Given the description of an element on the screen output the (x, y) to click on. 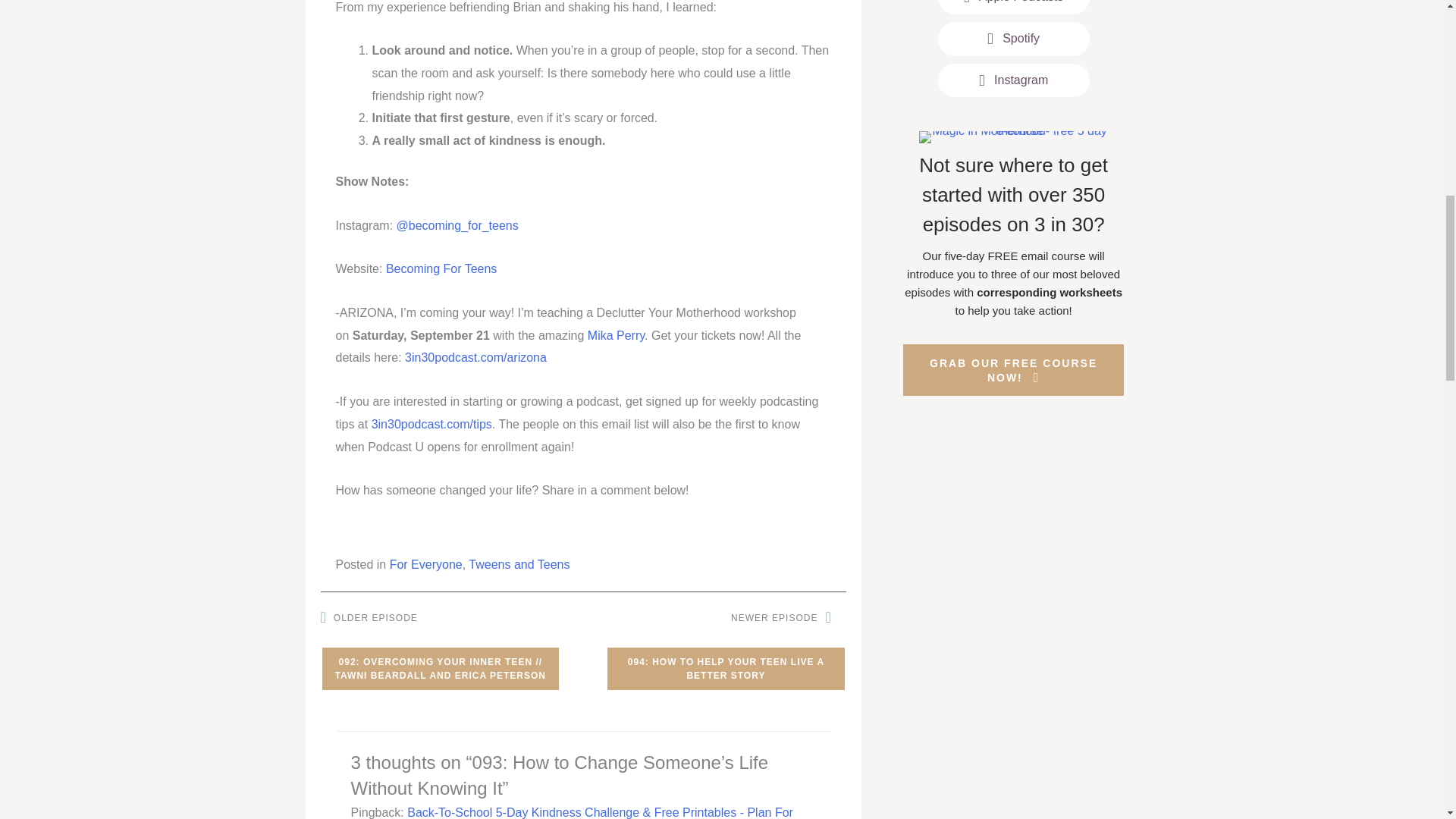
Instagram (1013, 80)
Spotify (1013, 39)
Apple Podcasts (1013, 7)
For Everyone (426, 563)
Tweens and Teens (518, 563)
Mika Perry (616, 335)
Becoming For Teens (440, 268)
magic (1013, 137)
094: HOW TO HELP YOUR TEEN LIVE A BETTER STORY (725, 668)
